Given the description of an element on the screen output the (x, y) to click on. 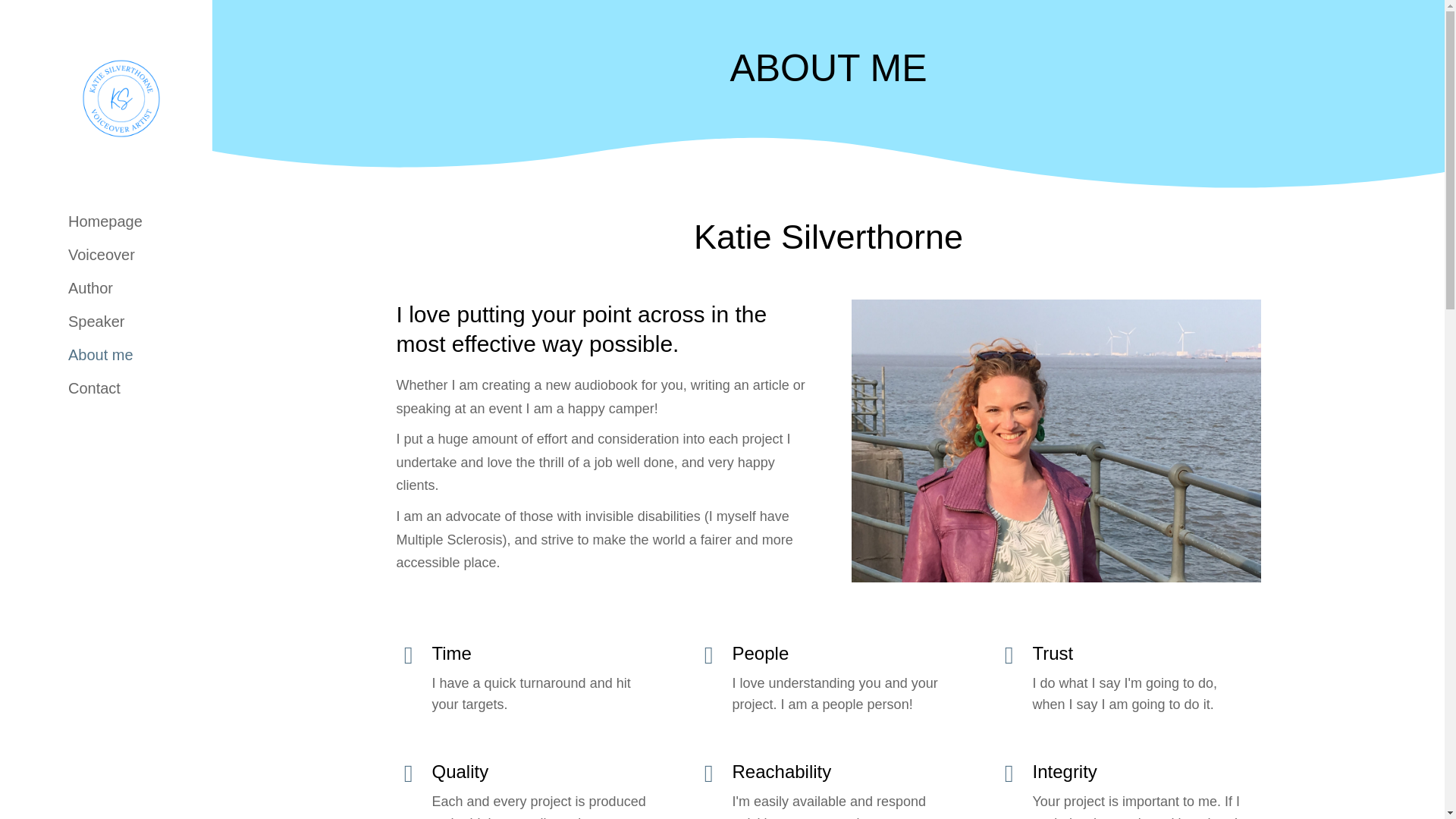
About me (92, 354)
Homepage (97, 221)
Contact (86, 388)
Speaker (88, 321)
Voiceover (93, 254)
Author (82, 288)
